Given the description of an element on the screen output the (x, y) to click on. 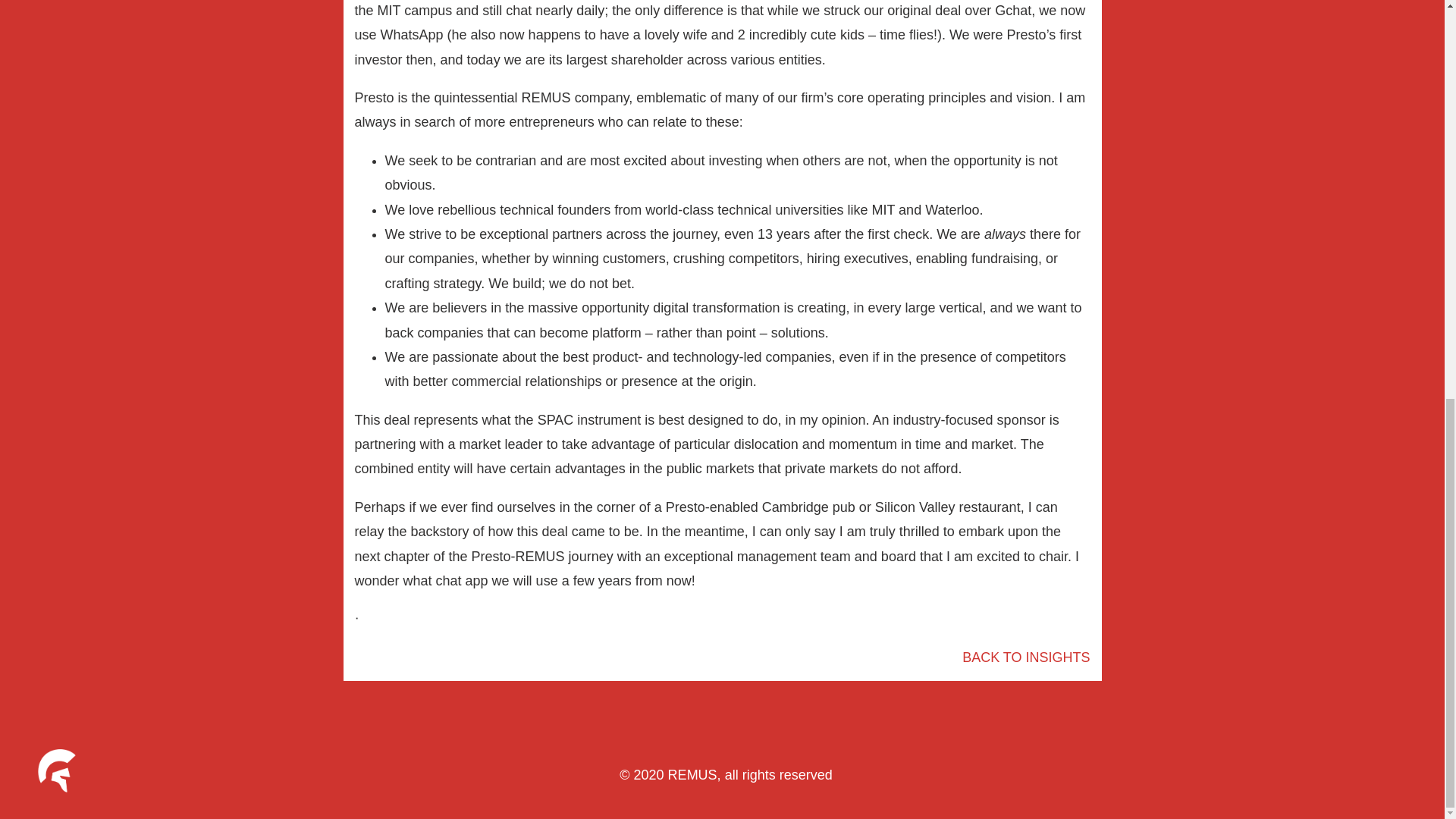
BACK TO INSIGHTS (1025, 657)
